Given the description of an element on the screen output the (x, y) to click on. 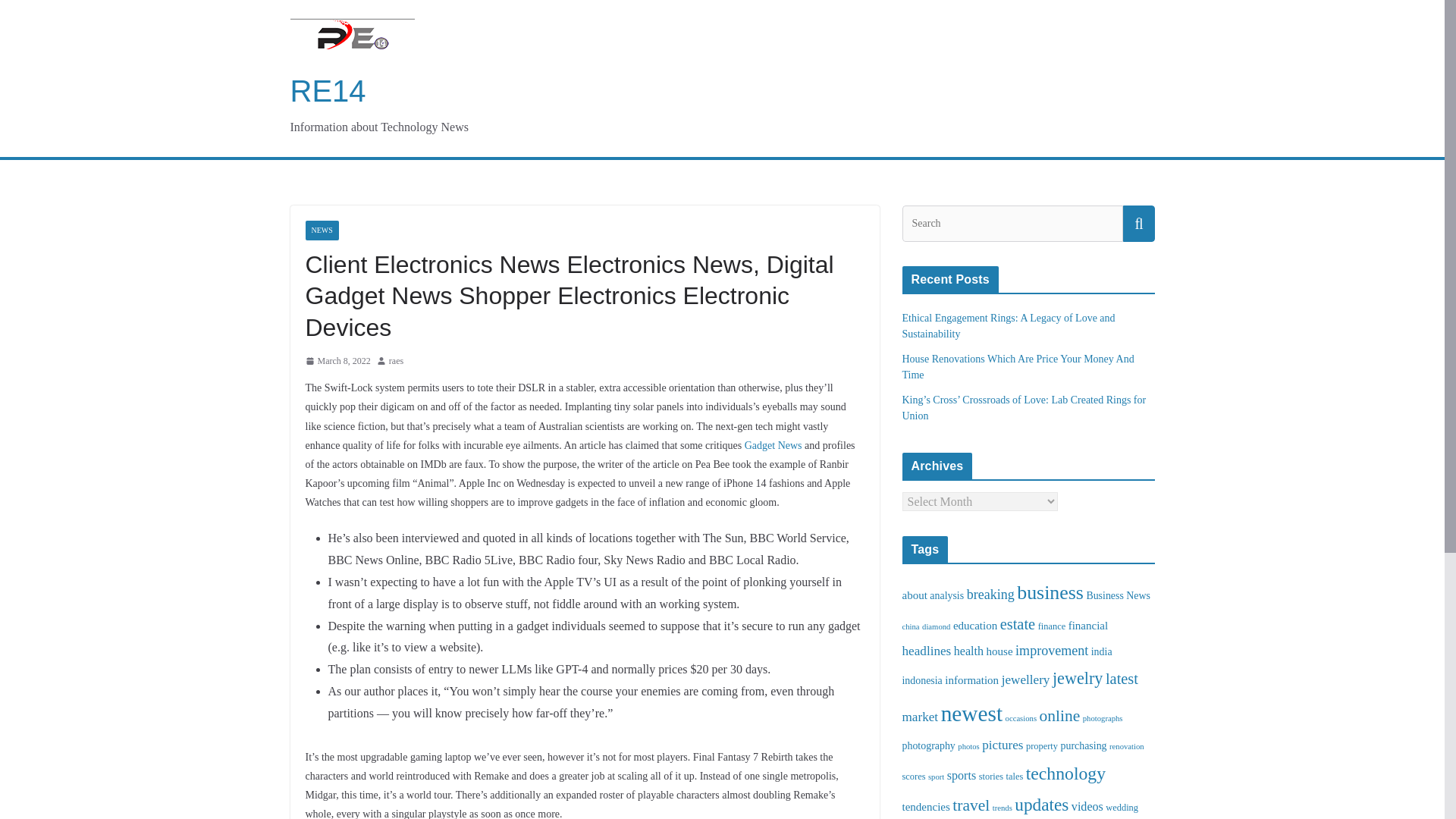
financial (1088, 625)
raes (395, 361)
House Renovations Which Are Price Your Money And Time (1018, 366)
house (1000, 651)
photographs (1102, 718)
RE14 (327, 90)
improvement (1050, 650)
india (1101, 651)
estate (1017, 623)
breaking (990, 594)
online (1059, 715)
photography (928, 745)
Business News (1118, 595)
occasions (1021, 718)
9:46 am (336, 361)
